Given the description of an element on the screen output the (x, y) to click on. 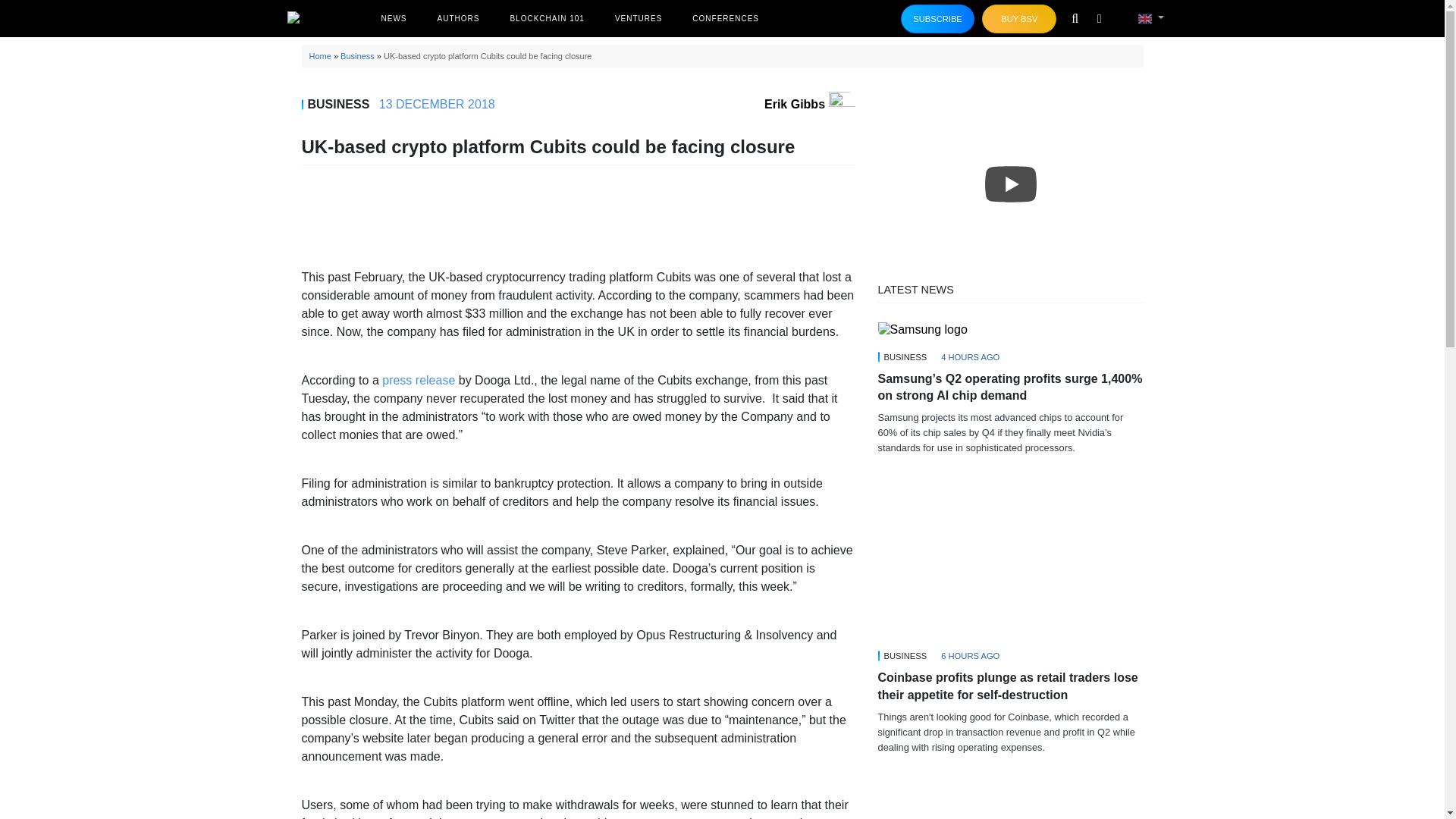
SUBSCRIBE (938, 18)
CONFERENCES (725, 18)
BLOCKCHAIN 101 (546, 18)
Samsung (922, 329)
Home (319, 55)
Never miss an update again! Subscribe to Newsletter! (938, 18)
Business (357, 55)
NEWS (392, 18)
UK-based crypto platform Cubits could be facing closure (721, 30)
BUY BSV (1019, 18)
press release (417, 379)
VENTURES (638, 18)
AUTHORS (457, 18)
